Given the description of an element on the screen output the (x, y) to click on. 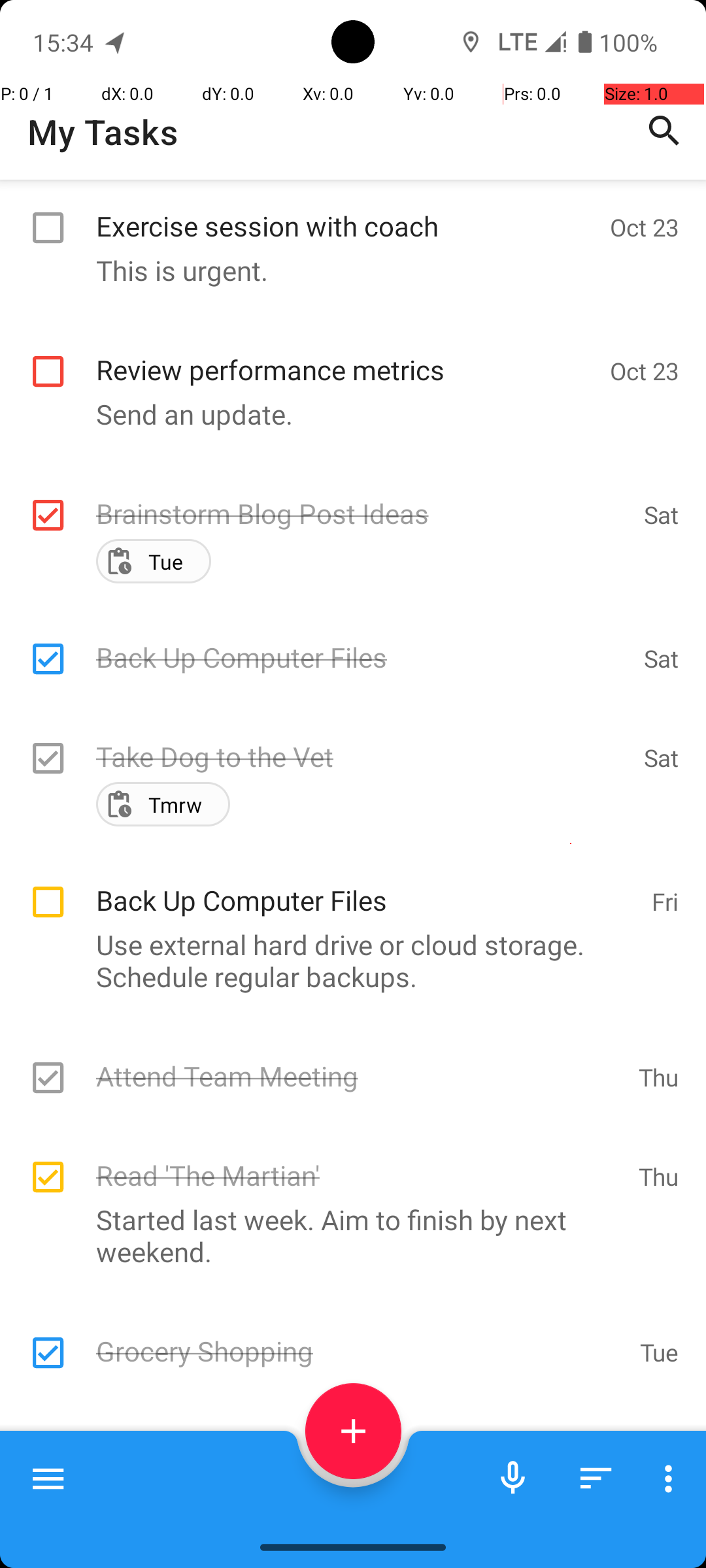
Exercise session with coach Element type: android.widget.TextView (346, 211)
This is urgent. Element type: android.widget.TextView (346, 269)
Oct 23 Element type: android.widget.TextView (644, 226)
Review performance metrics Element type: android.widget.TextView (346, 355)
Send an update. Element type: android.widget.TextView (346, 413)
Use external hard drive or cloud storage. Schedule regular backups. Element type: android.widget.TextView (346, 1039)
